Given the description of an element on the screen output the (x, y) to click on. 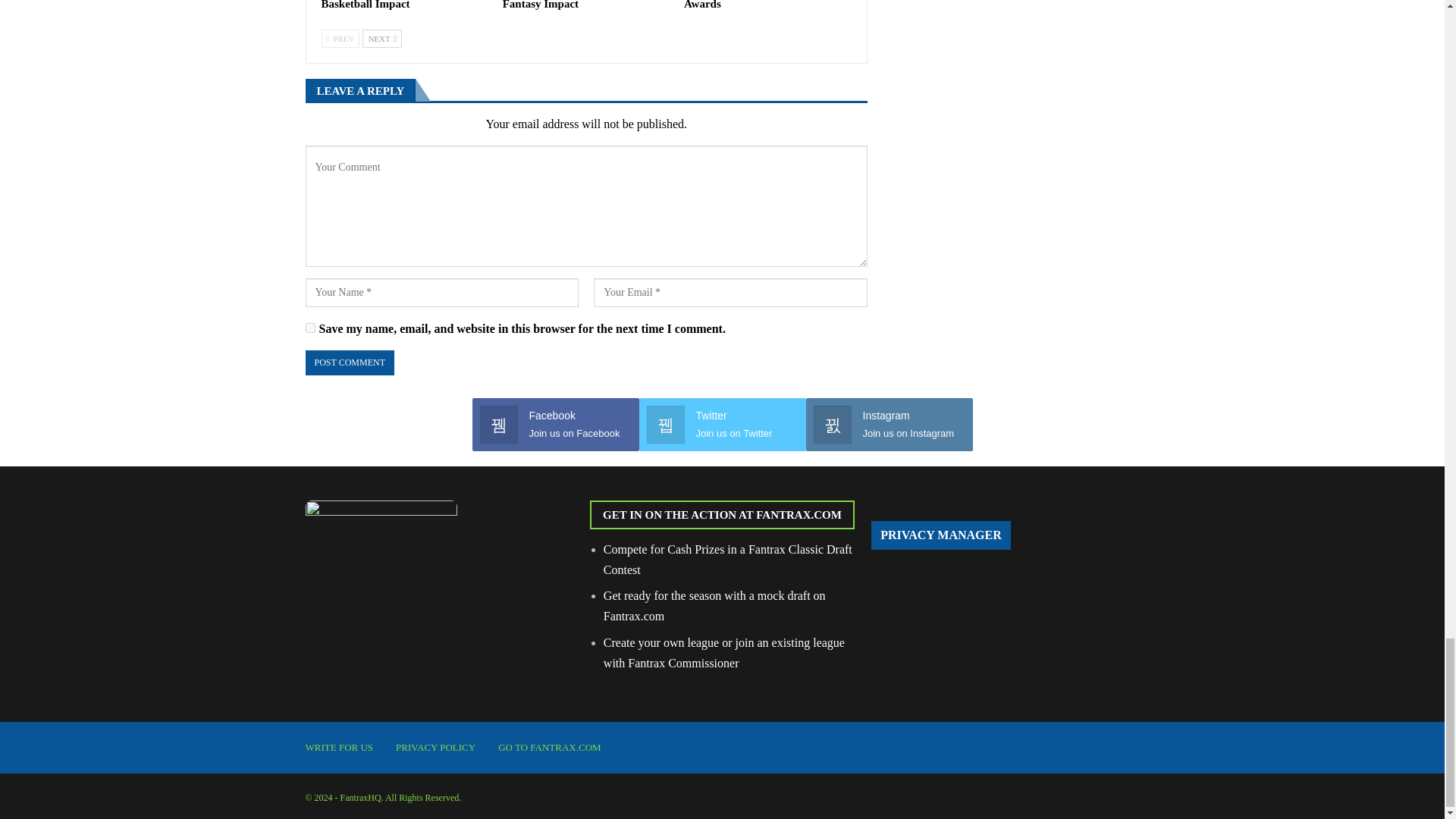
Post Comment (348, 362)
2024 NBA Draft Reaction: Fantasy Impact (566, 4)
Recent NBA Trades: Fantasy Basketball Impact (392, 4)
yes (309, 327)
